Given the description of an element on the screen output the (x, y) to click on. 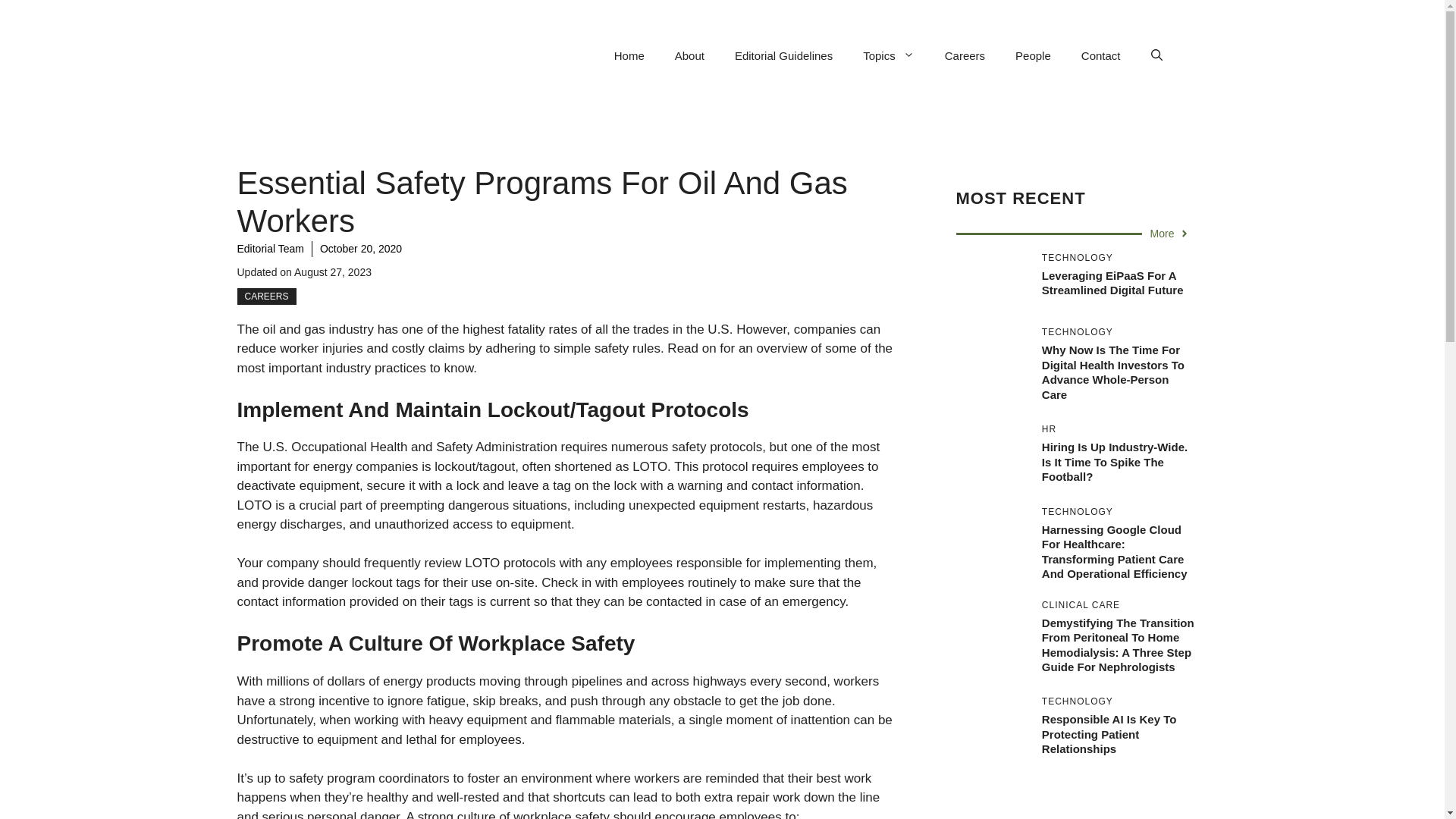
About (689, 55)
Editorial Team (268, 248)
People (1032, 55)
More (1170, 233)
Leveraging EiPaaS For A Streamlined Digital Future (1112, 283)
Topics (888, 55)
CAREERS (265, 296)
Home (628, 55)
Careers (965, 55)
